Given the description of an element on the screen output the (x, y) to click on. 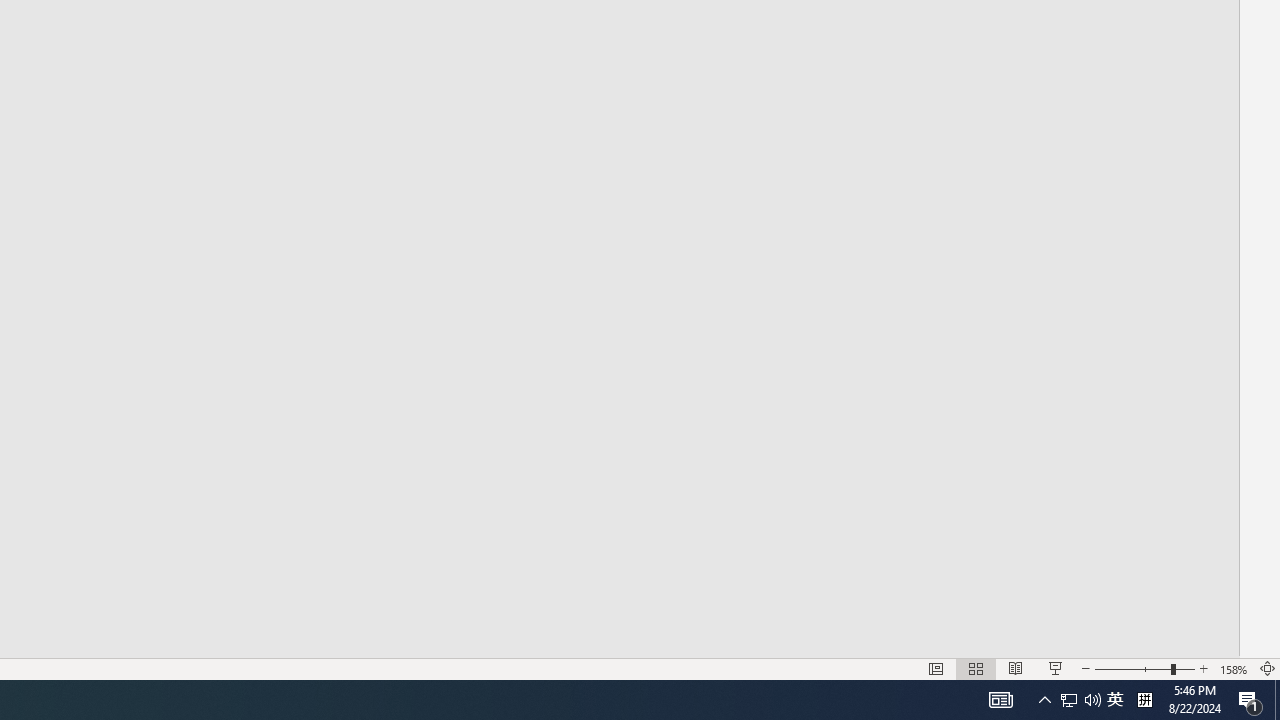
Zoom 158% (1234, 668)
